Given the description of an element on the screen output the (x, y) to click on. 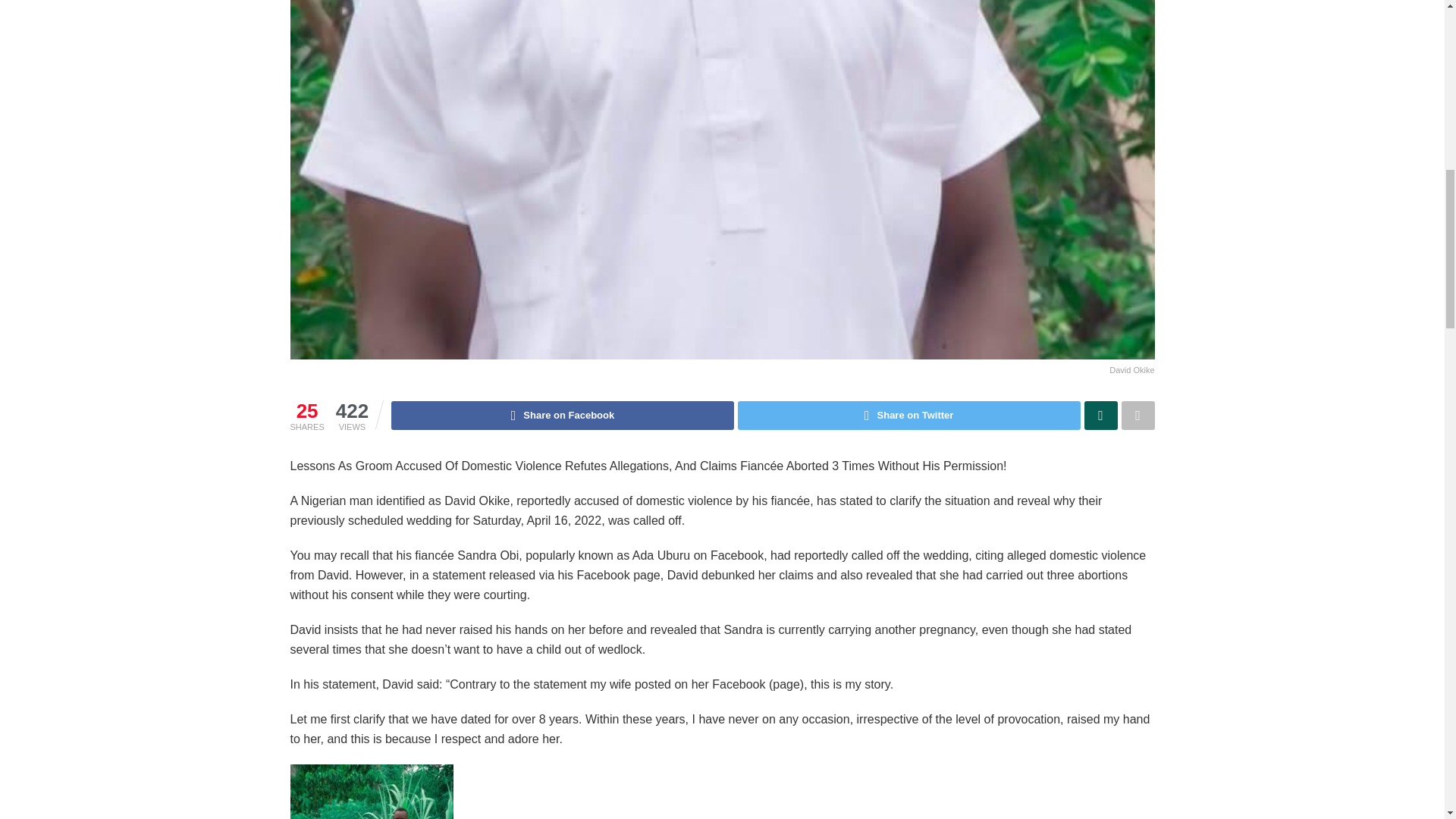
Share on Twitter (909, 415)
Share on Facebook (562, 415)
